Given the description of an element on the screen output the (x, y) to click on. 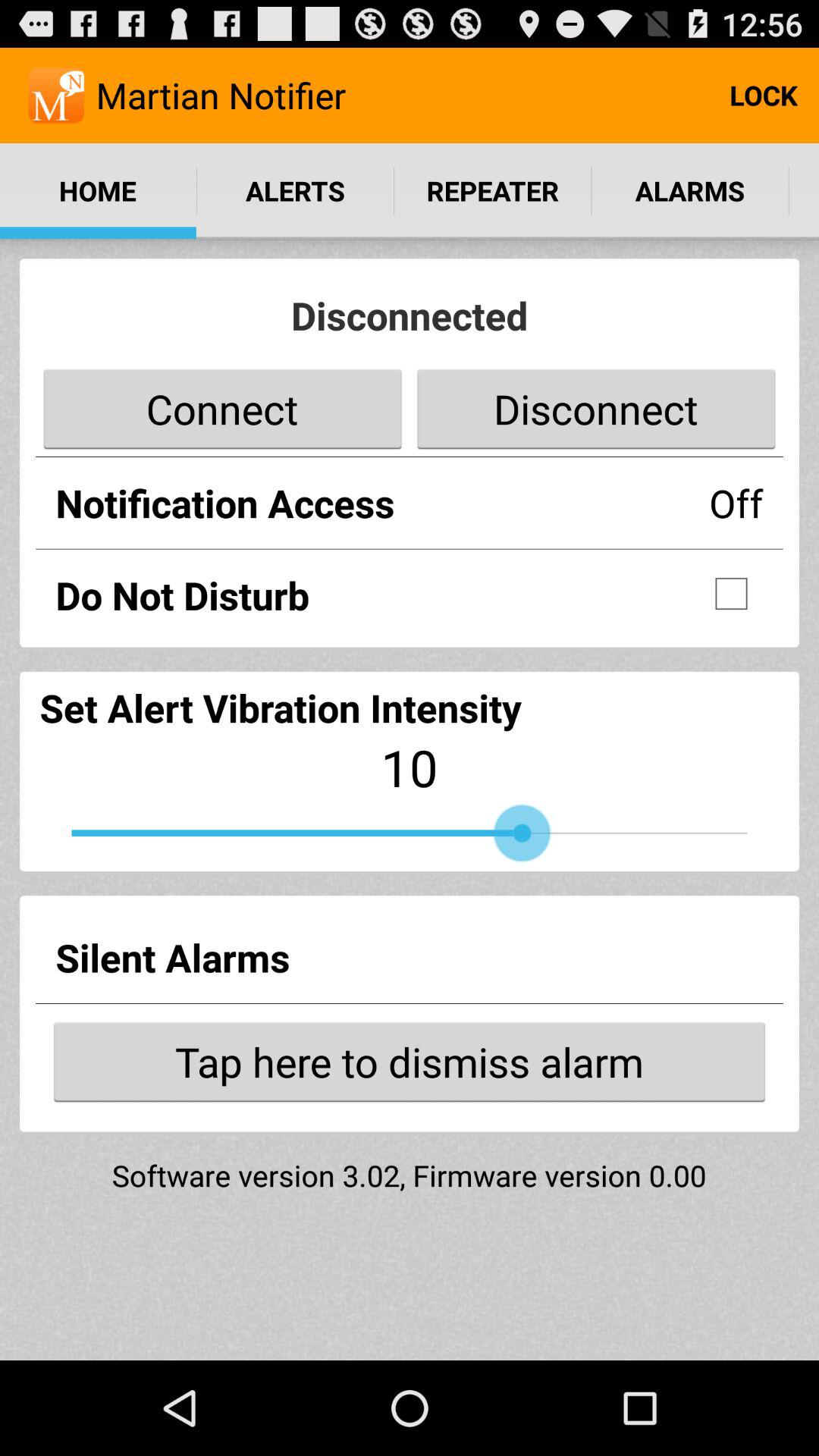
active do not disturb icon (731, 593)
